Given the description of an element on the screen output the (x, y) to click on. 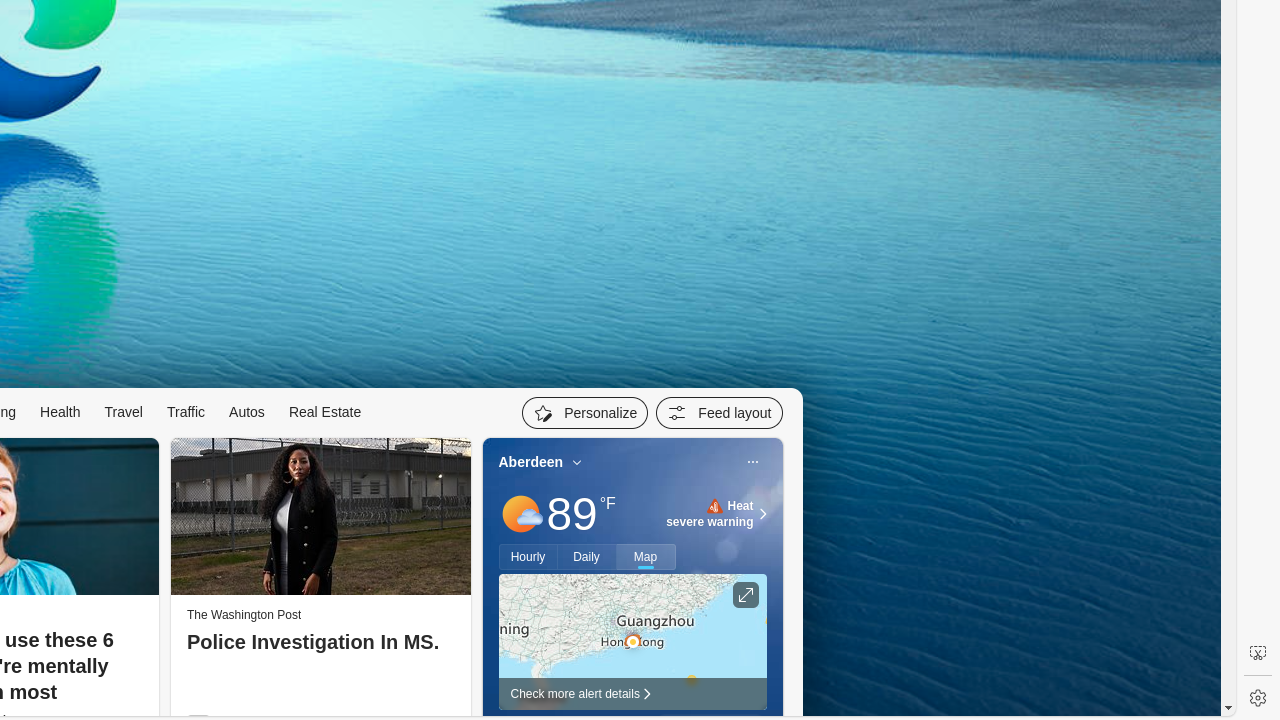
Police Investigation In MS. Element type: link (320, 643)
89°F Element type: link (581, 514)
More options Element type: push-button (752, 462)
Mostly sunny Element type: link (520, 514)
Click to see more information Element type: link (745, 595)
